Given the description of an element on the screen output the (x, y) to click on. 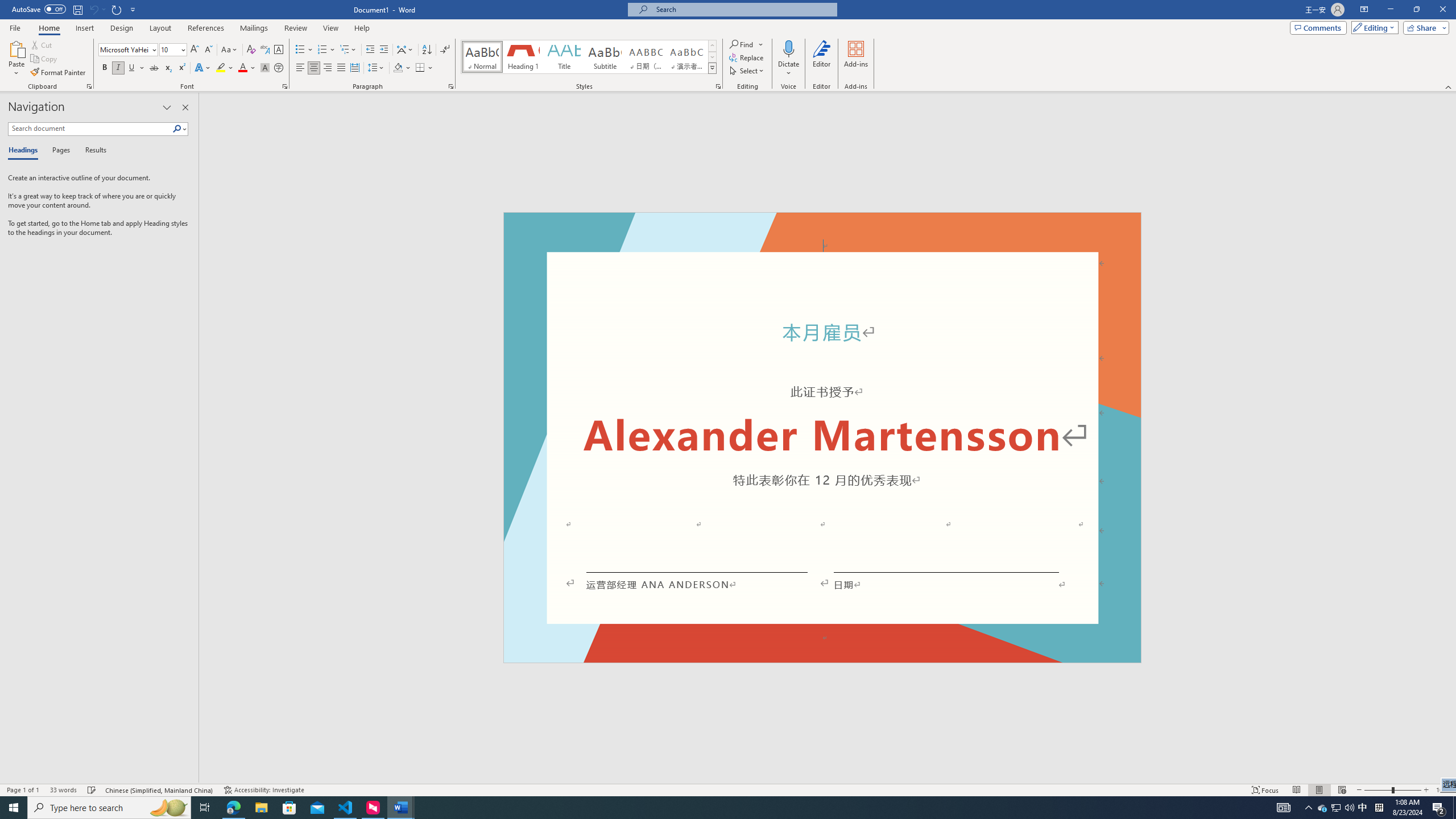
Page Number Page 1 of 1 (22, 790)
Font Color Red (241, 67)
Decorative (822, 437)
